Given the description of an element on the screen output the (x, y) to click on. 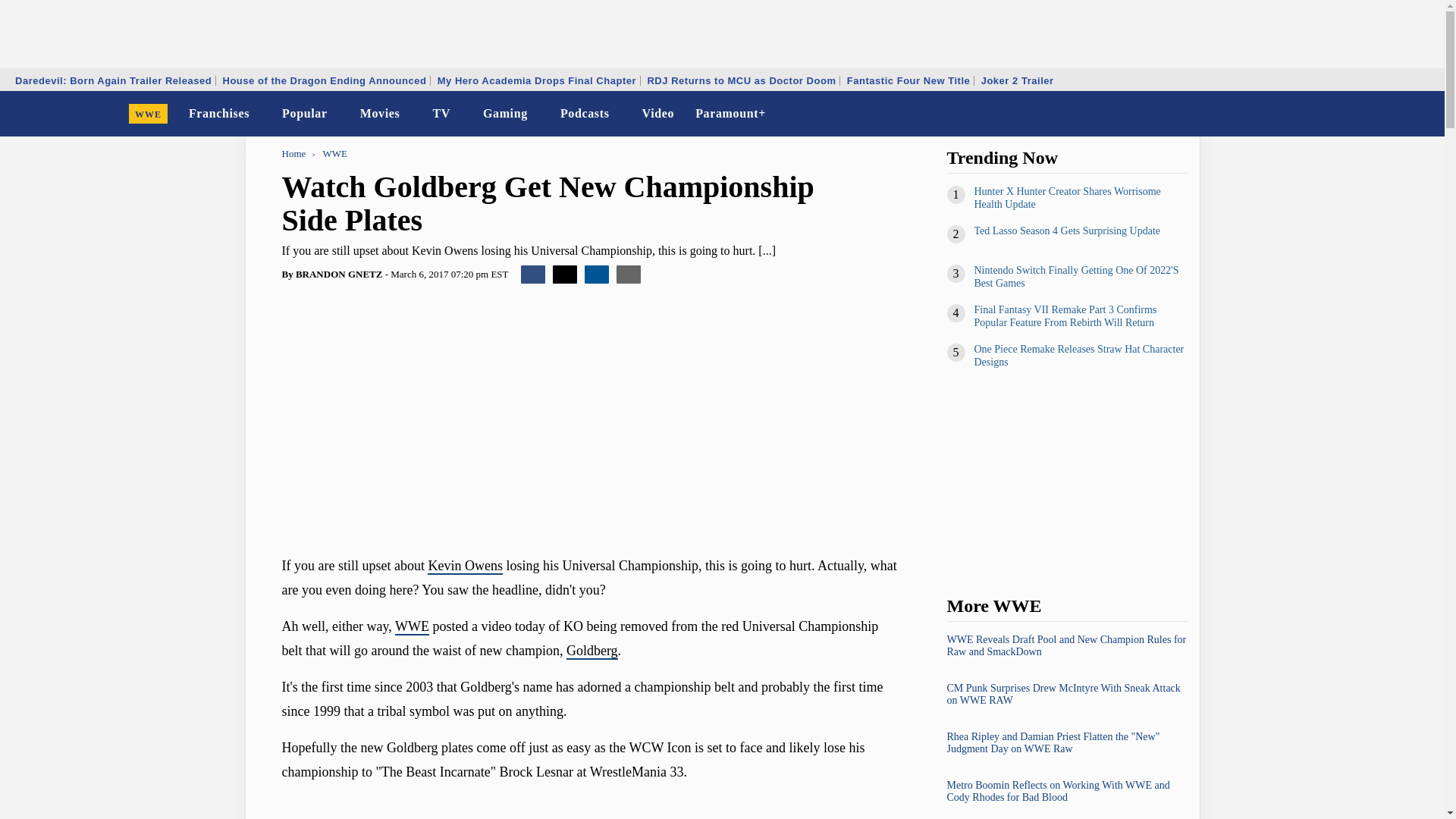
Popular (304, 113)
Joker 2 Trailer (1017, 80)
Fantastic Four New Title (908, 80)
House of the Dragon Ending Announced (323, 80)
Dark Mode (1394, 113)
Movies (379, 113)
Daredevil: Born Again Trailer Released (113, 80)
RDJ Returns to MCU as Doctor Doom (741, 80)
WWE (148, 113)
My Hero Academia Drops Final Chapter (536, 80)
